Given the description of an element on the screen output the (x, y) to click on. 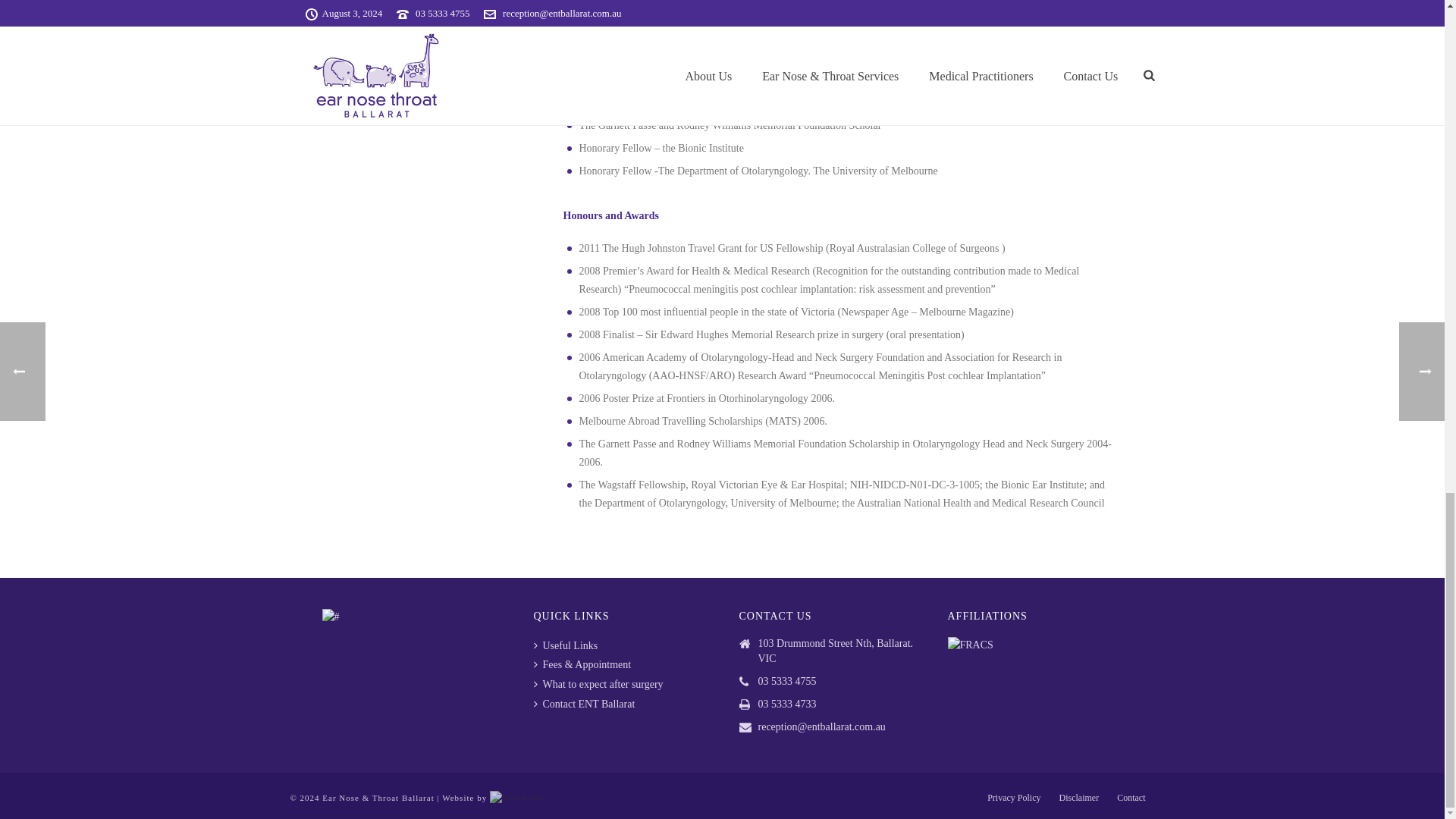
Brown Ink Web Design Ballarat (516, 797)
